Given the description of an element on the screen output the (x, y) to click on. 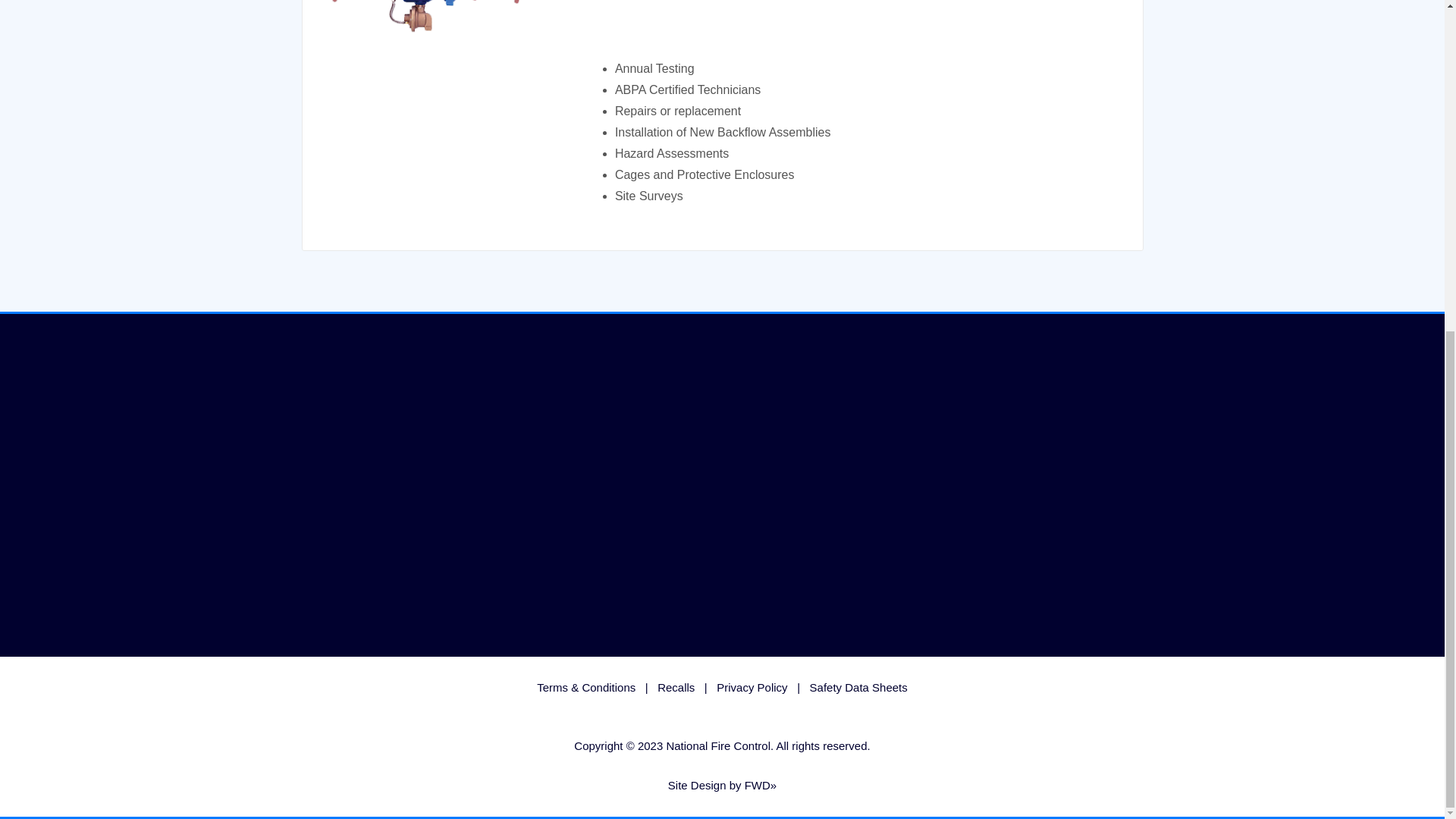
Privacy Policy (751, 686)
Safety Data Sheets (858, 686)
Fisher Web Design (760, 784)
Recalls (676, 686)
backflow assembly (432, 73)
